Given the description of an element on the screen output the (x, y) to click on. 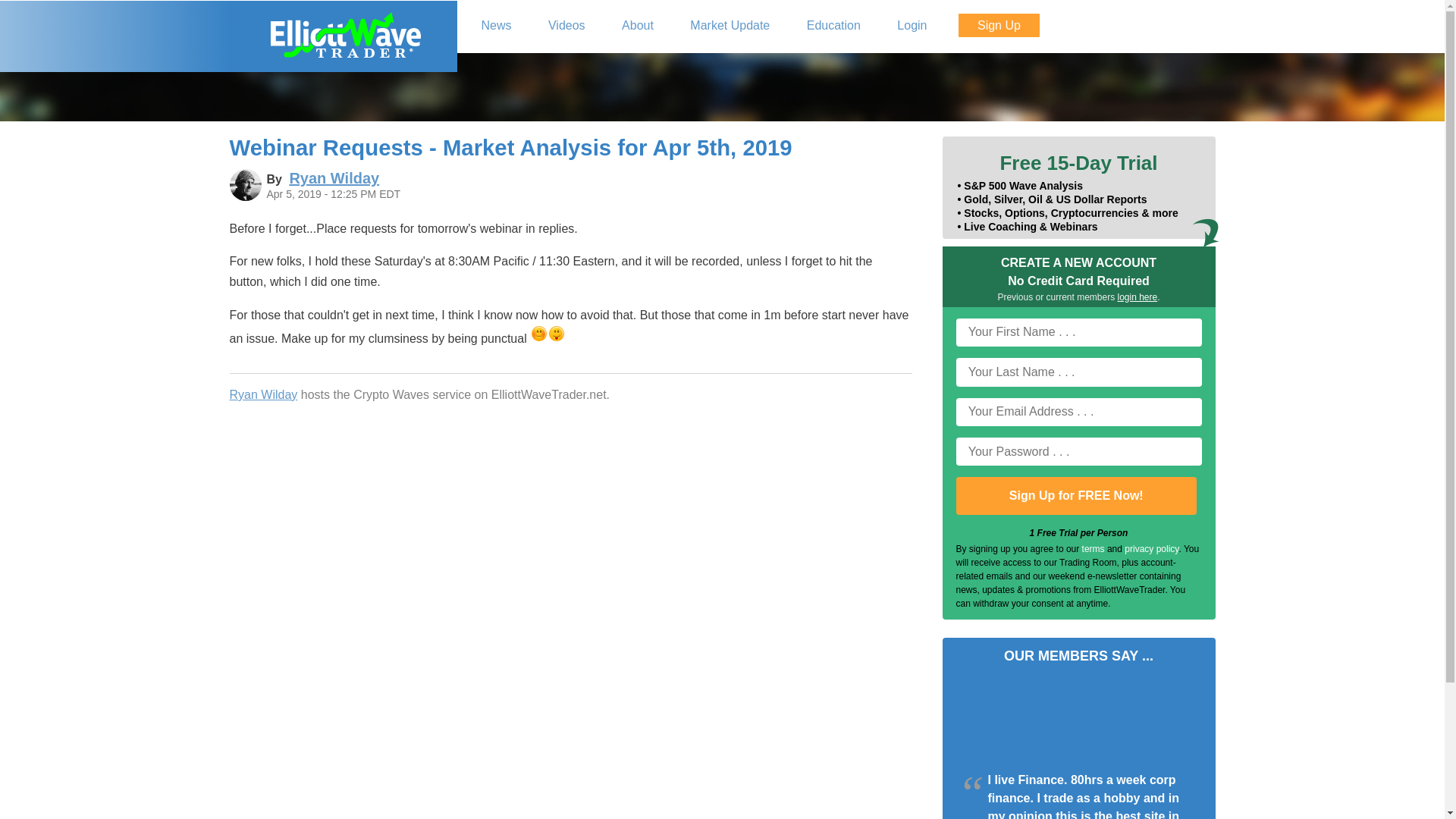
News (496, 25)
terms (1093, 548)
Market Update (729, 25)
Your Last Name (1078, 371)
Education (834, 25)
Login (911, 25)
Videos (567, 25)
Your Password (1078, 451)
Sign Up for FREE Now! (1075, 495)
Your First Name (1078, 332)
